Given the description of an element on the screen output the (x, y) to click on. 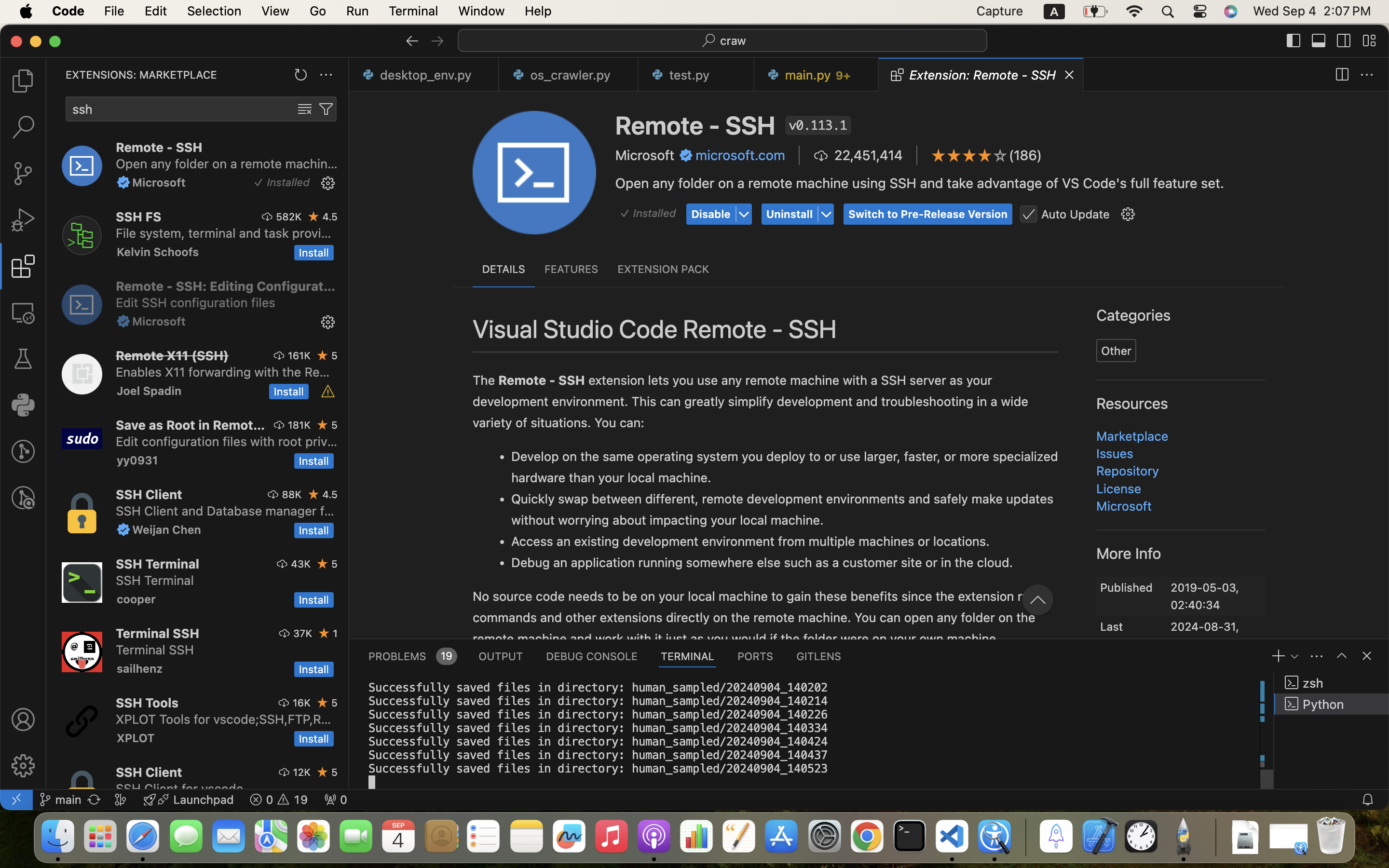
1  Element type: AXRadioButton (23, 266)
SSH Client Element type: AXStaticText (148, 494)
 Element type: AXCheckBox (1318, 40)
 Element type: AXGroup (23, 358)
 Element type: AXButton (1366, 655)
